Given the description of an element on the screen output the (x, y) to click on. 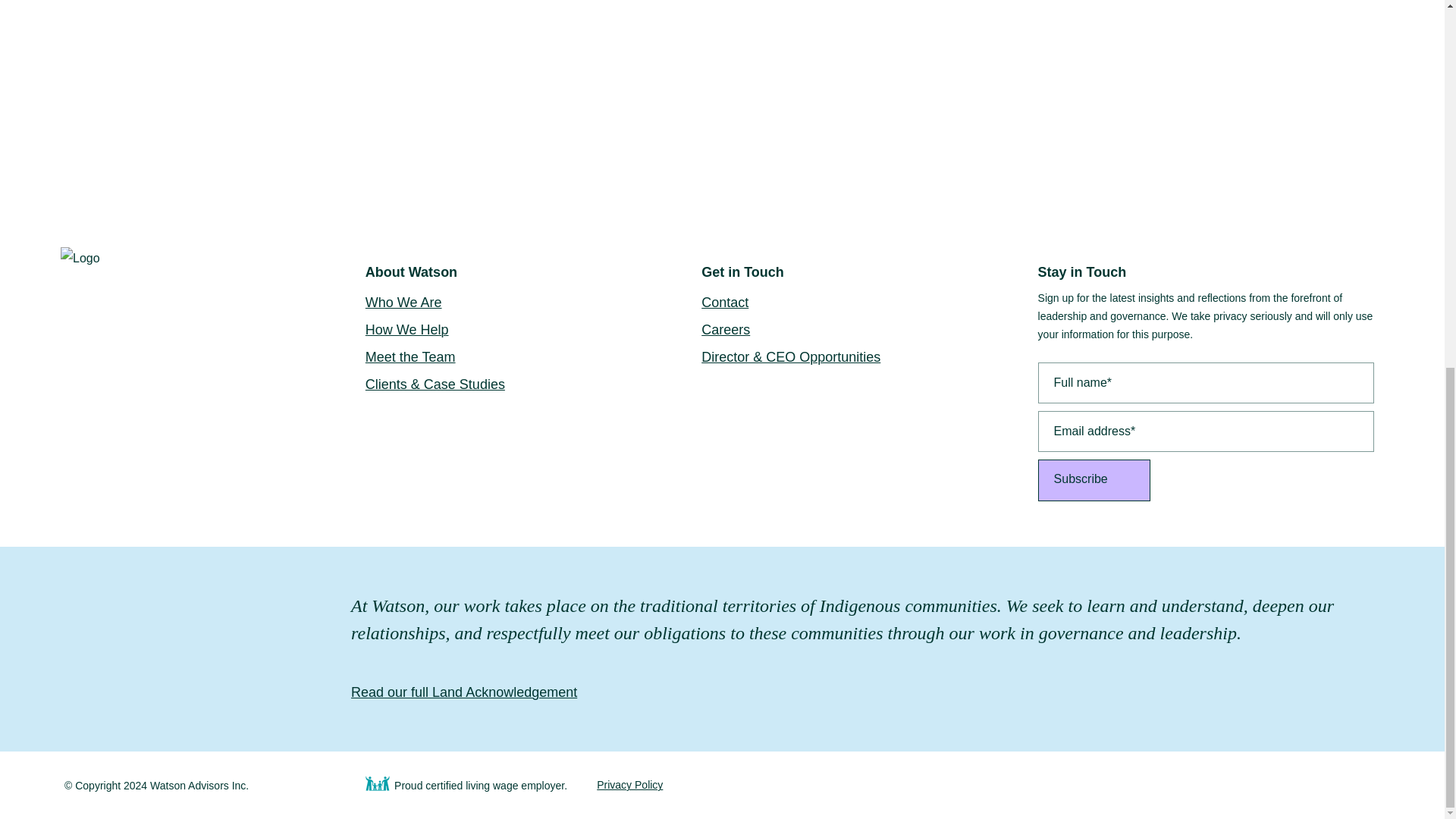
Who We Are (533, 302)
Contact (868, 302)
How We Help (533, 329)
Meet the Team (533, 357)
Linkedin (1059, 784)
Careers (868, 329)
